Given the description of an element on the screen output the (x, y) to click on. 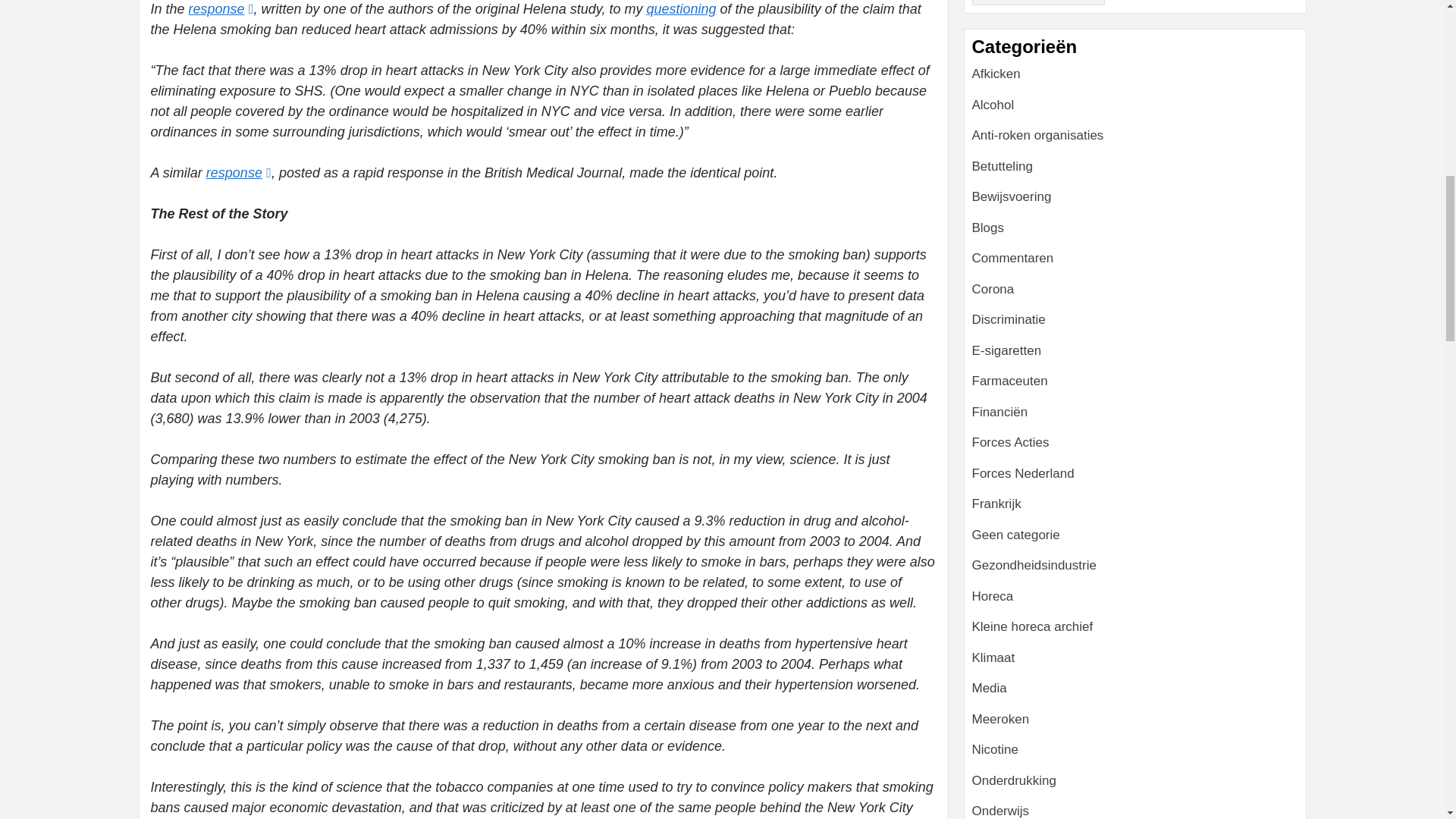
questioning (681, 8)
response (238, 172)
response (221, 8)
